Given the description of an element on the screen output the (x, y) to click on. 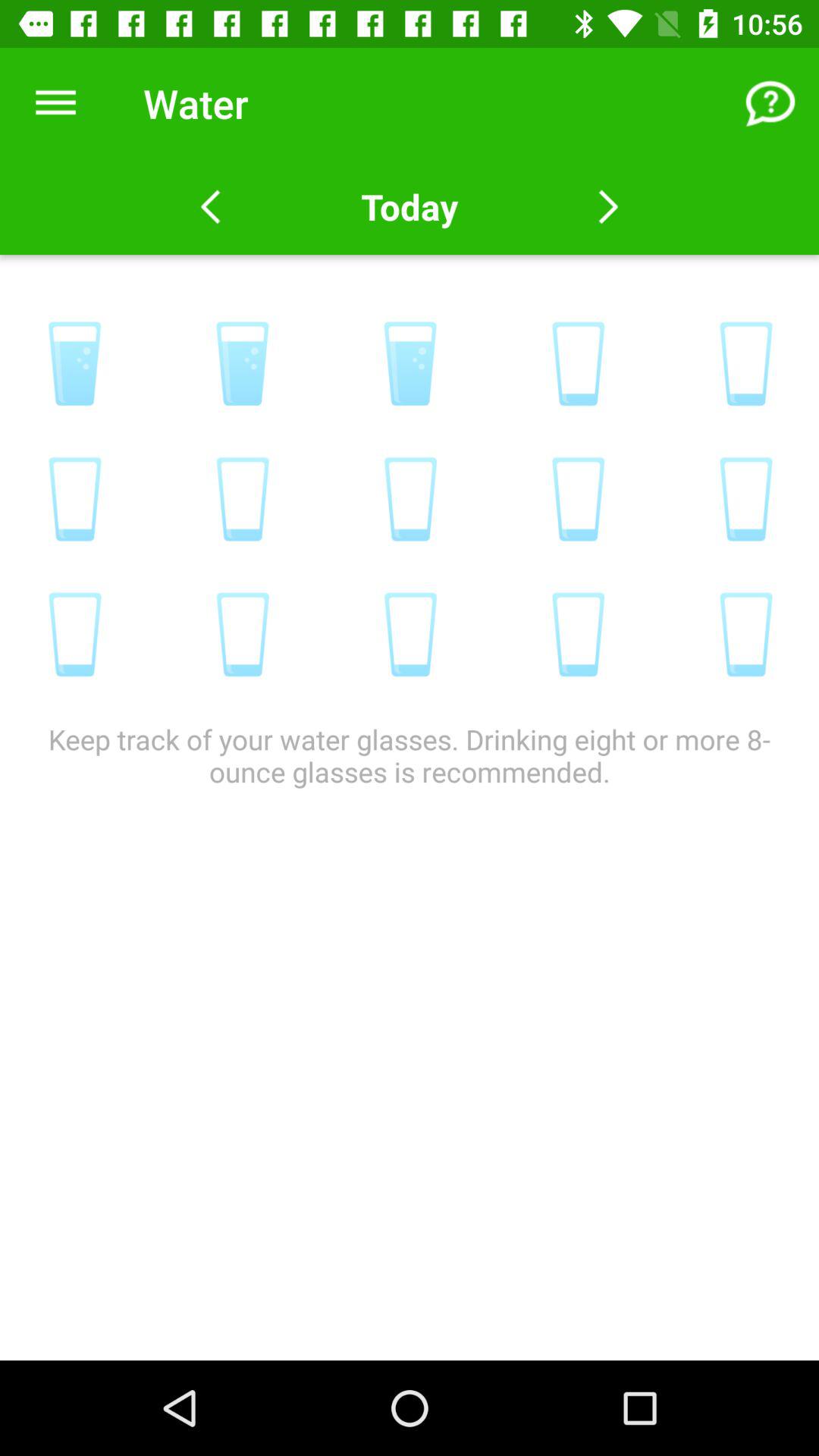
go to back (210, 206)
